Given the description of an element on the screen output the (x, y) to click on. 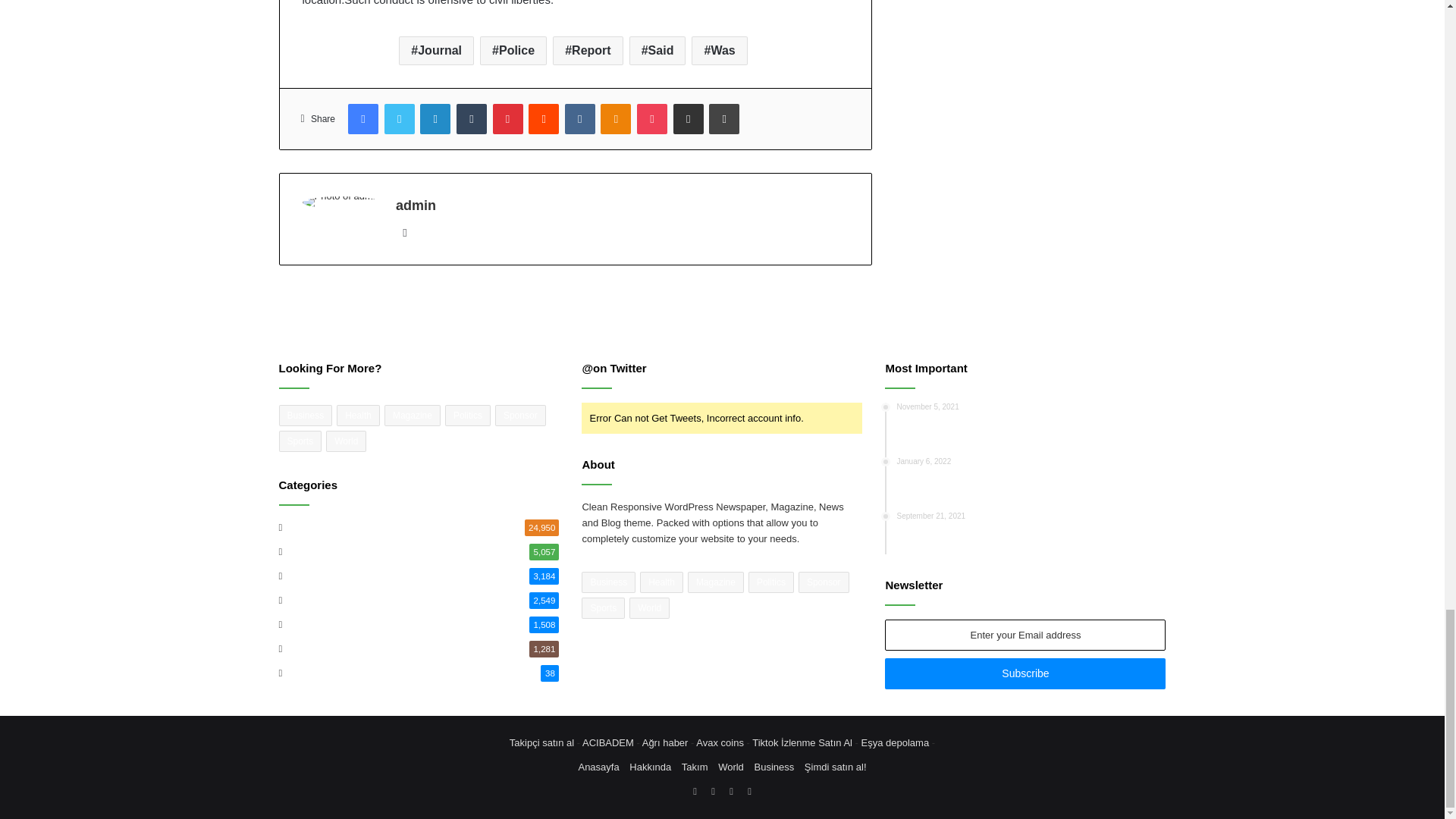
Police (513, 50)
Said (656, 50)
Subscribe (1025, 673)
Journal (436, 50)
Report (588, 50)
